Given the description of an element on the screen output the (x, y) to click on. 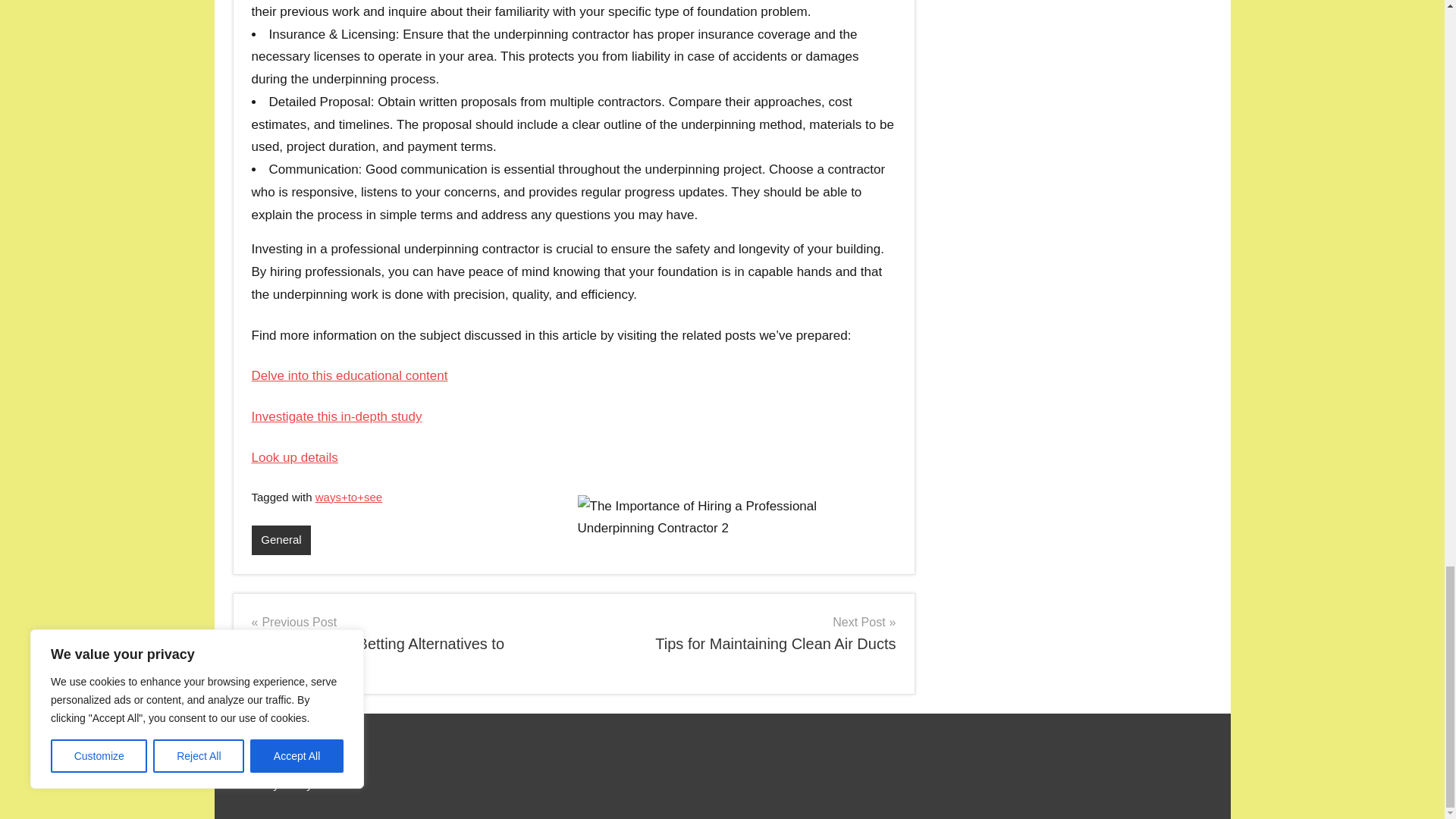
Investigate this in-depth study (740, 632)
General (406, 643)
Look up details (336, 416)
Delve into this educational content (281, 540)
